Given the description of an element on the screen output the (x, y) to click on. 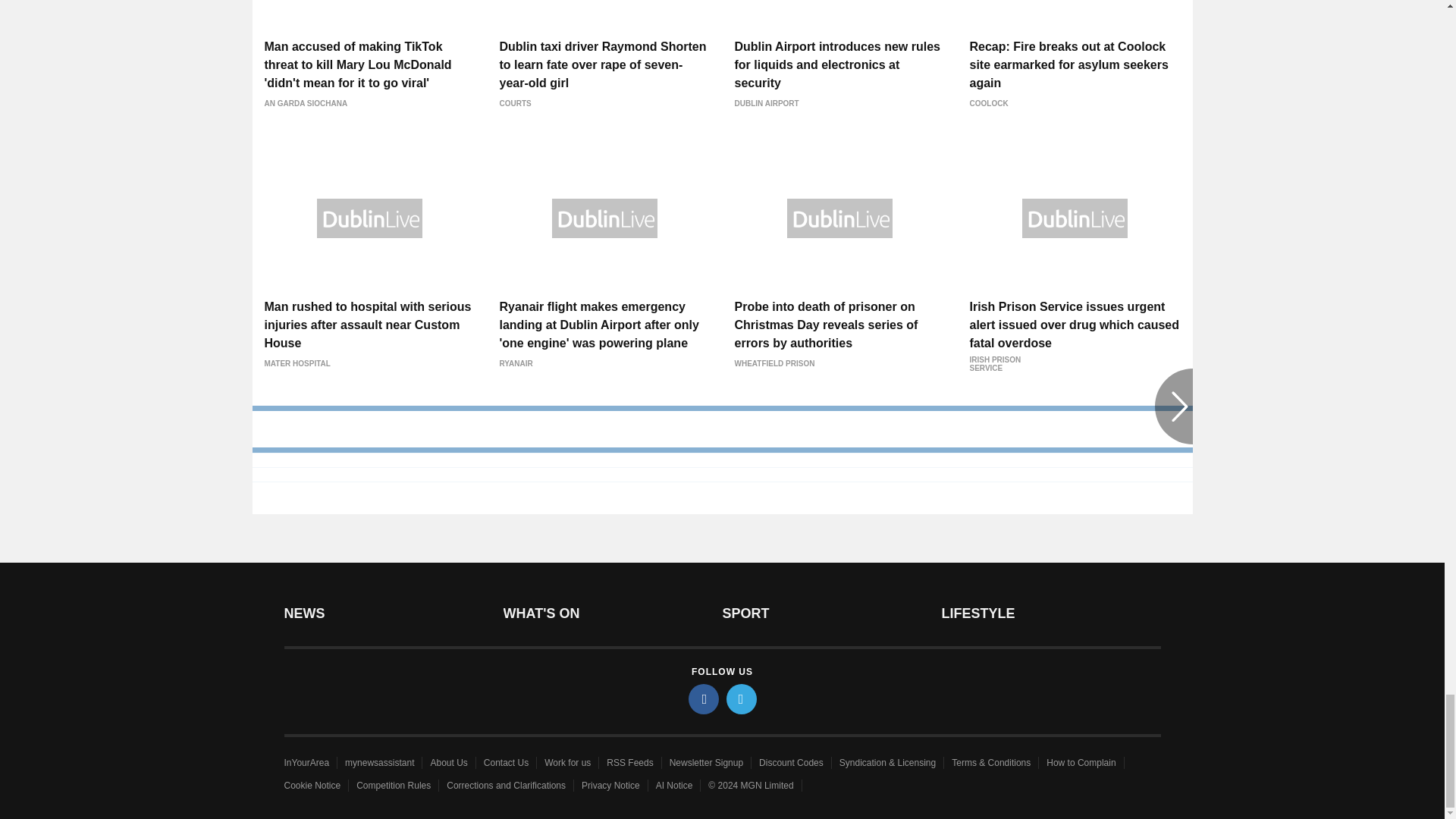
twitter (741, 698)
facebook (703, 698)
